Given the description of an element on the screen output the (x, y) to click on. 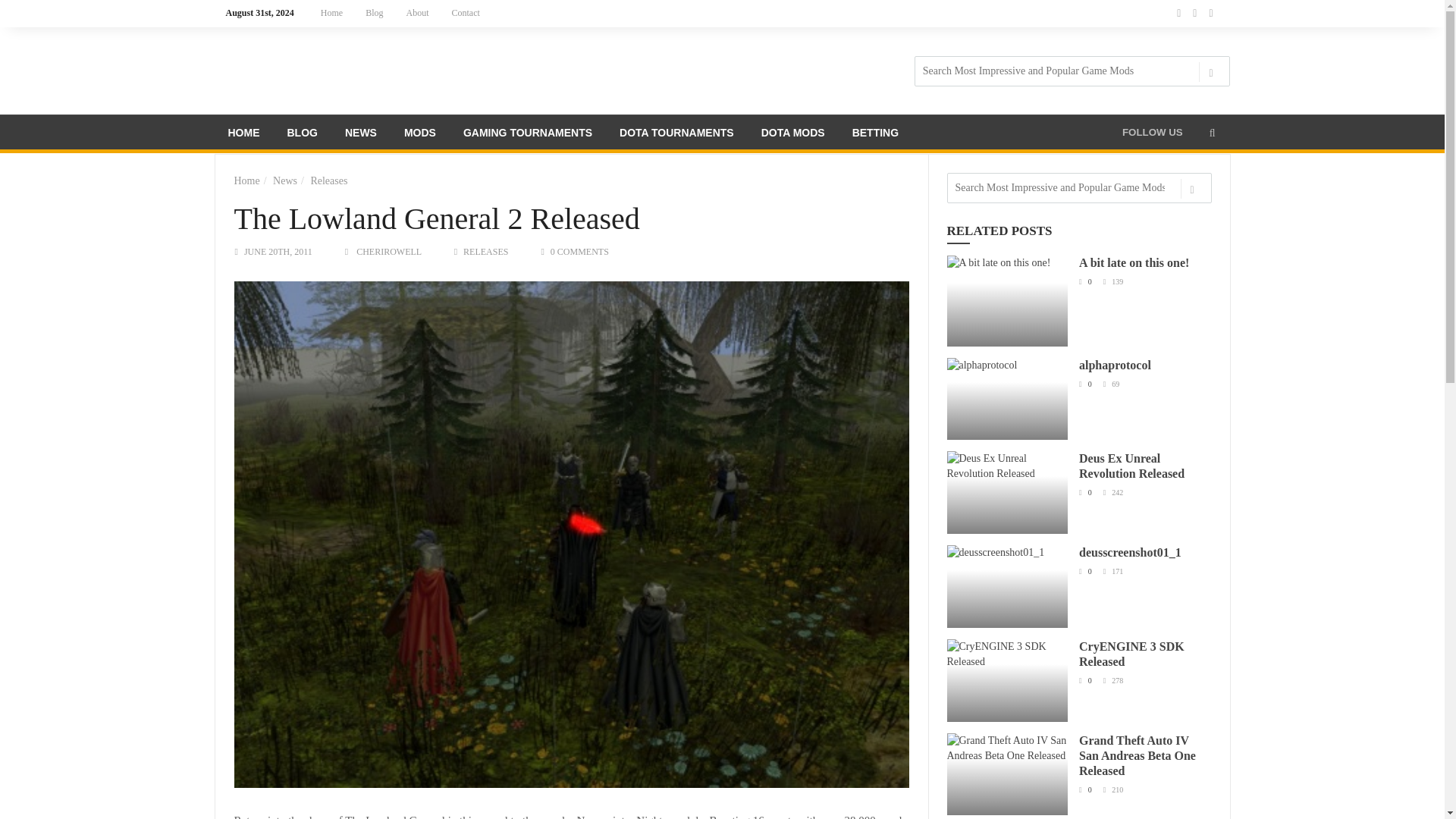
DOTA MODS (793, 134)
MODS (419, 134)
View all posts in Releases (485, 251)
News (285, 180)
Contact (466, 13)
BETTING (875, 134)
GAMING TOURNAMENTS (527, 134)
Releases (328, 180)
Blog (373, 13)
Home (330, 13)
